Given the description of an element on the screen output the (x, y) to click on. 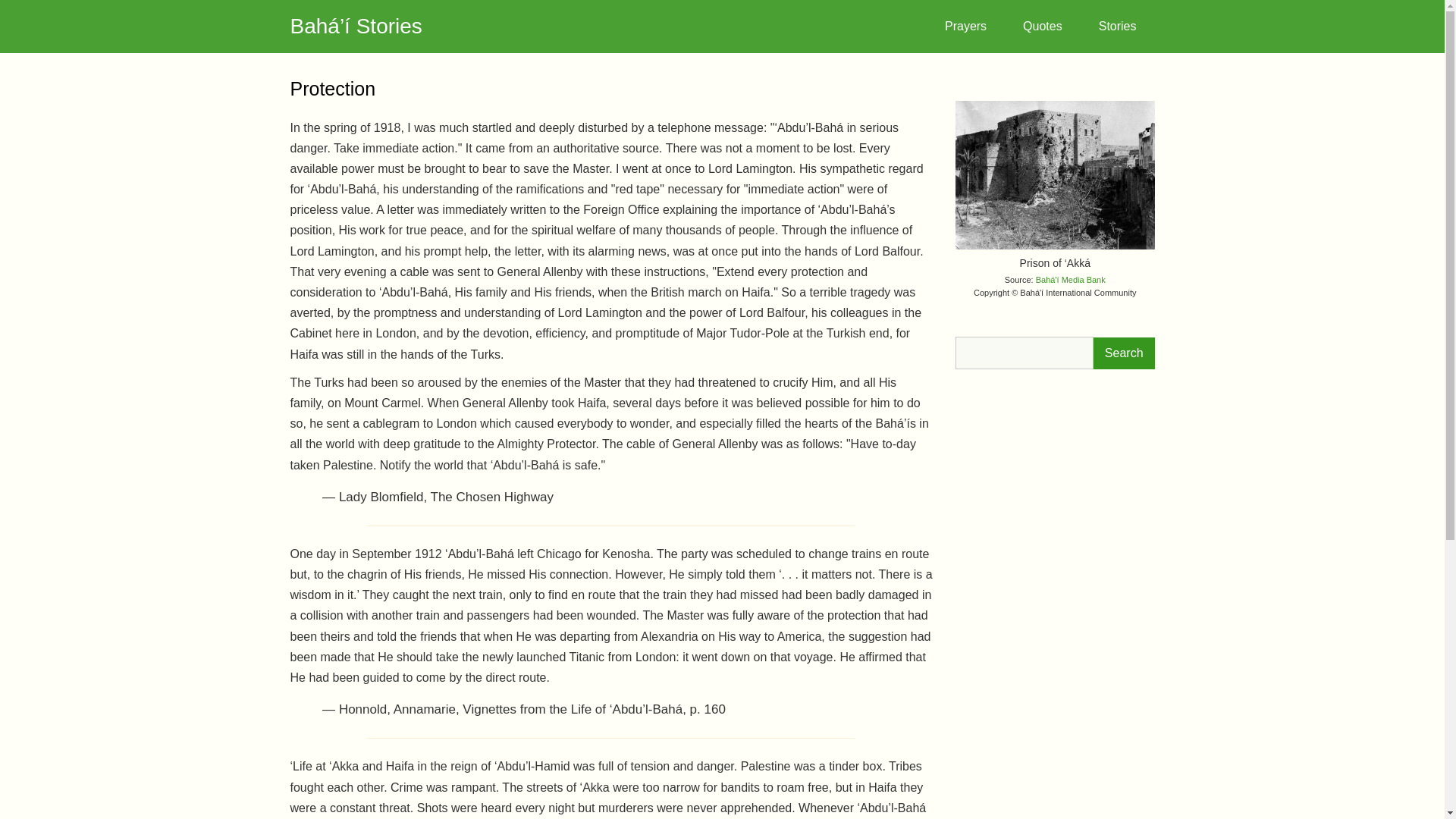
Quotes (1042, 26)
Search (1123, 353)
Home (355, 25)
Enter the terms you wish to search for. (1024, 352)
Stories (1117, 26)
Search (1123, 353)
Prayers (965, 26)
